Given the description of an element on the screen output the (x, y) to click on. 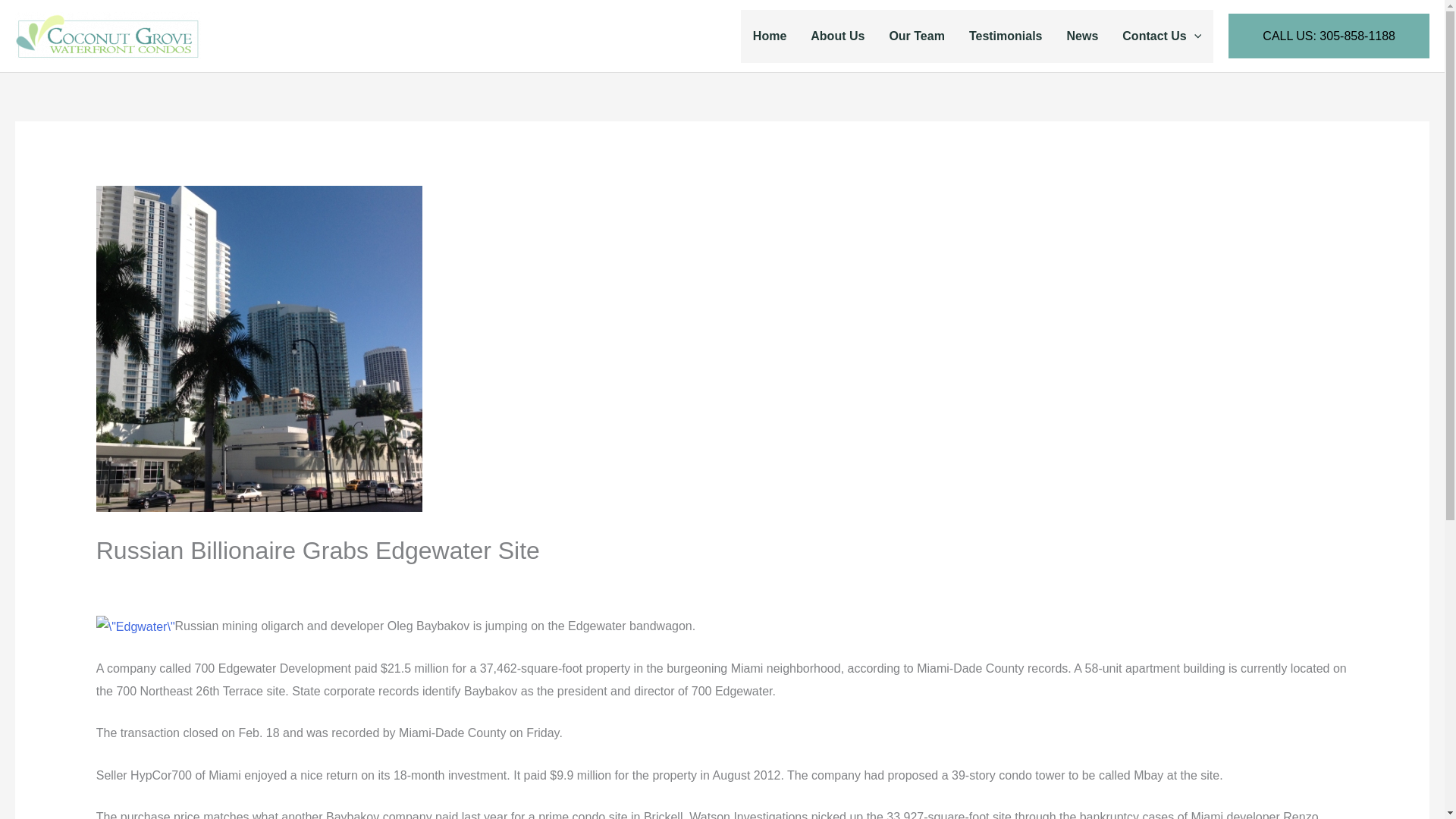
COMMERCIAL (143, 581)
CALL US: 305-858-1188 (1328, 35)
Contact Us (1160, 35)
About Us (836, 35)
NEW RESIDENTIAL (477, 581)
Our Team (916, 35)
MULTIFAMILY (376, 581)
Home (769, 35)
Testimonials (1005, 35)
News (1082, 35)
View all posts by ADMIN (578, 581)
ADMIN (578, 581)
LAND (316, 581)
INDUSTRY NEWS (243, 581)
